Given the description of an element on the screen output the (x, y) to click on. 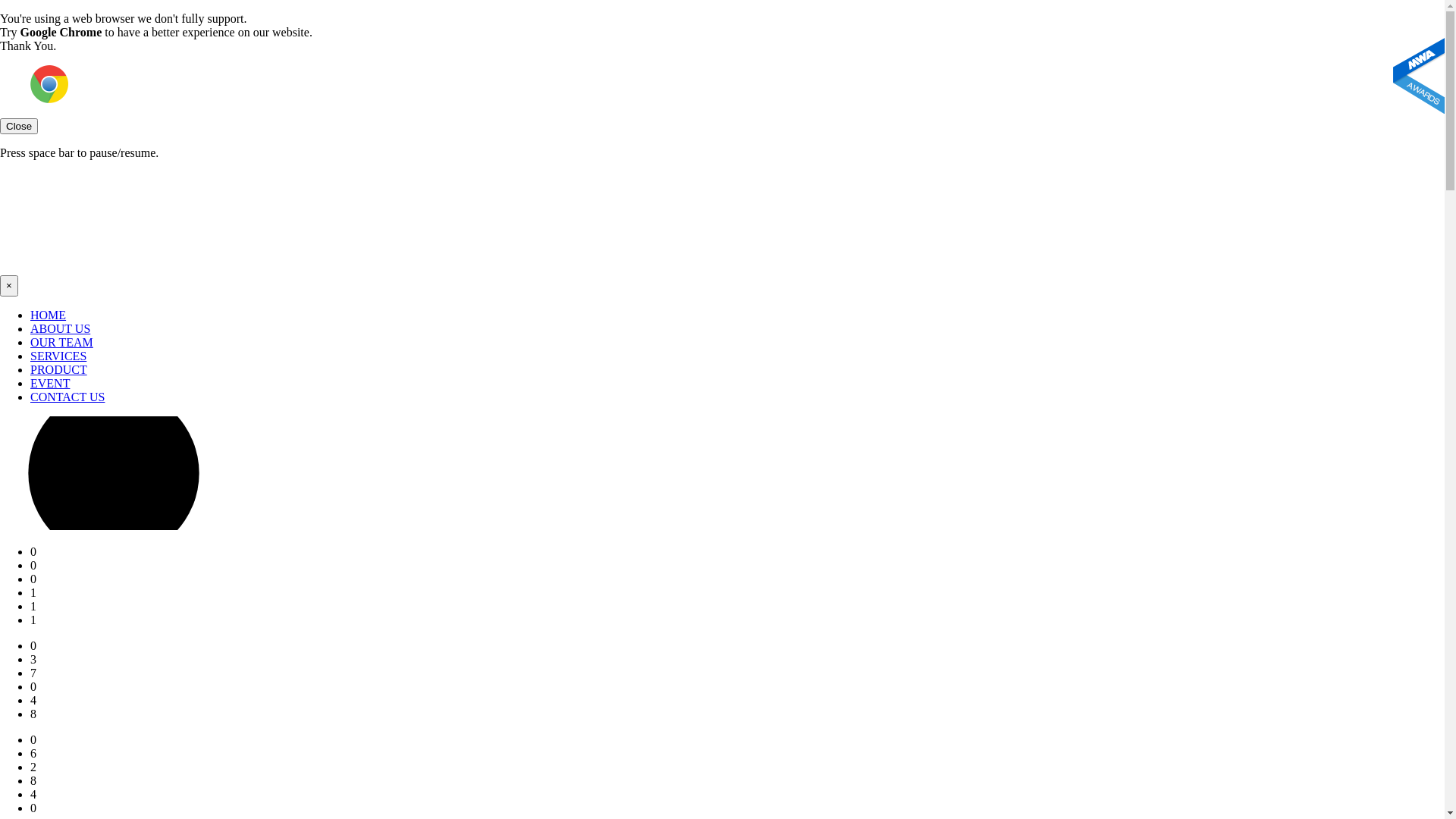
ABOUT US Element type: text (60, 328)
SERVICES Element type: text (58, 355)
PRODUCT Element type: text (58, 369)
Close Element type: text (18, 126)
HOME Element type: text (47, 314)
EVENT Element type: text (49, 382)
OUR TEAM Element type: text (61, 341)
CONTACT US Element type: text (67, 396)
